Given the description of an element on the screen output the (x, y) to click on. 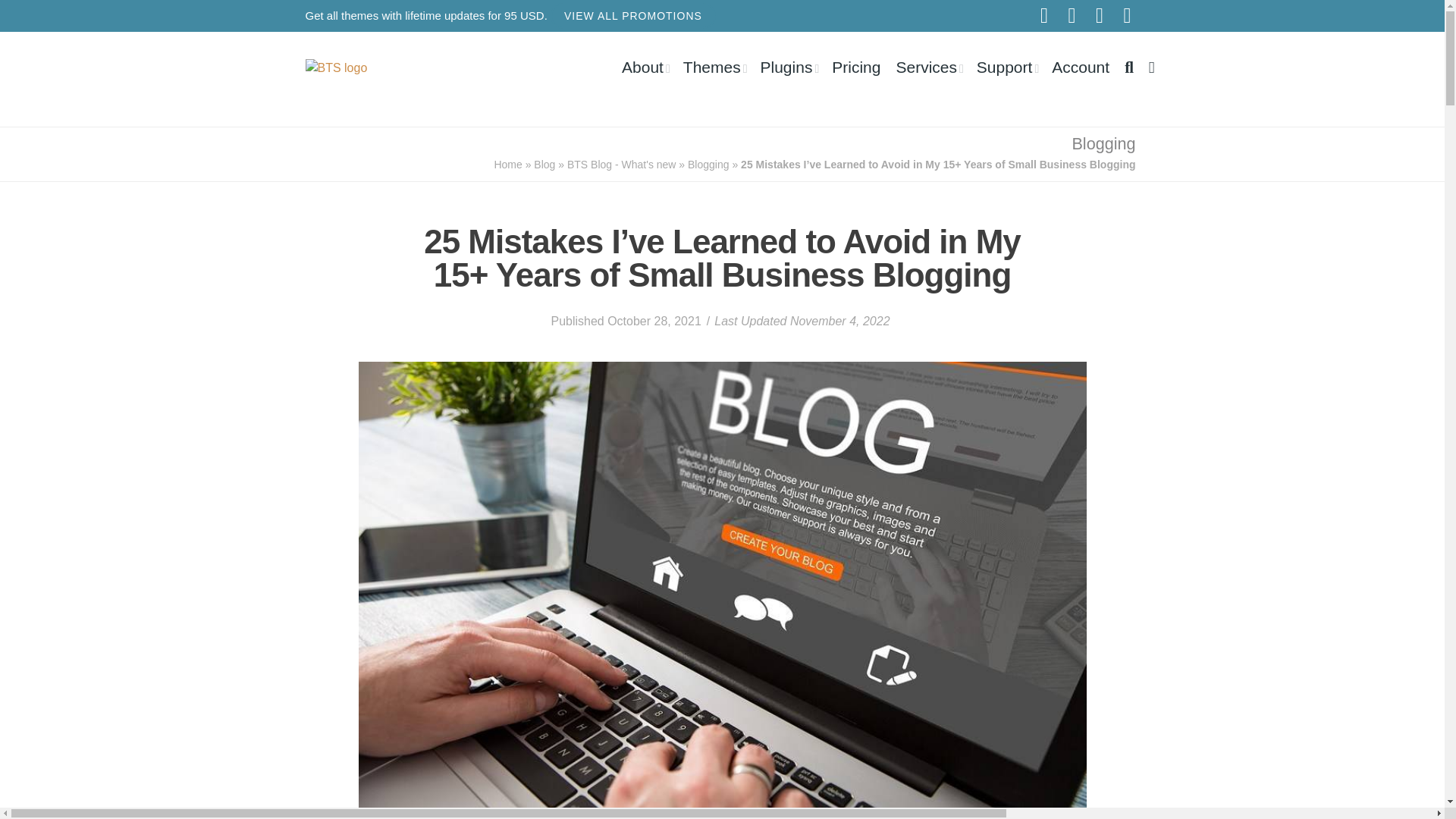
Facebook (1071, 15)
VIEW ALL PROMOTIONS (633, 15)
Plugins (788, 67)
Pricing (855, 67)
WordPress (1044, 15)
Twitter (1099, 15)
Themes (713, 67)
About (644, 67)
Our Free and Premium WordPress Themes (713, 67)
Linkedin (1126, 15)
Services (927, 67)
